Given the description of an element on the screen output the (x, y) to click on. 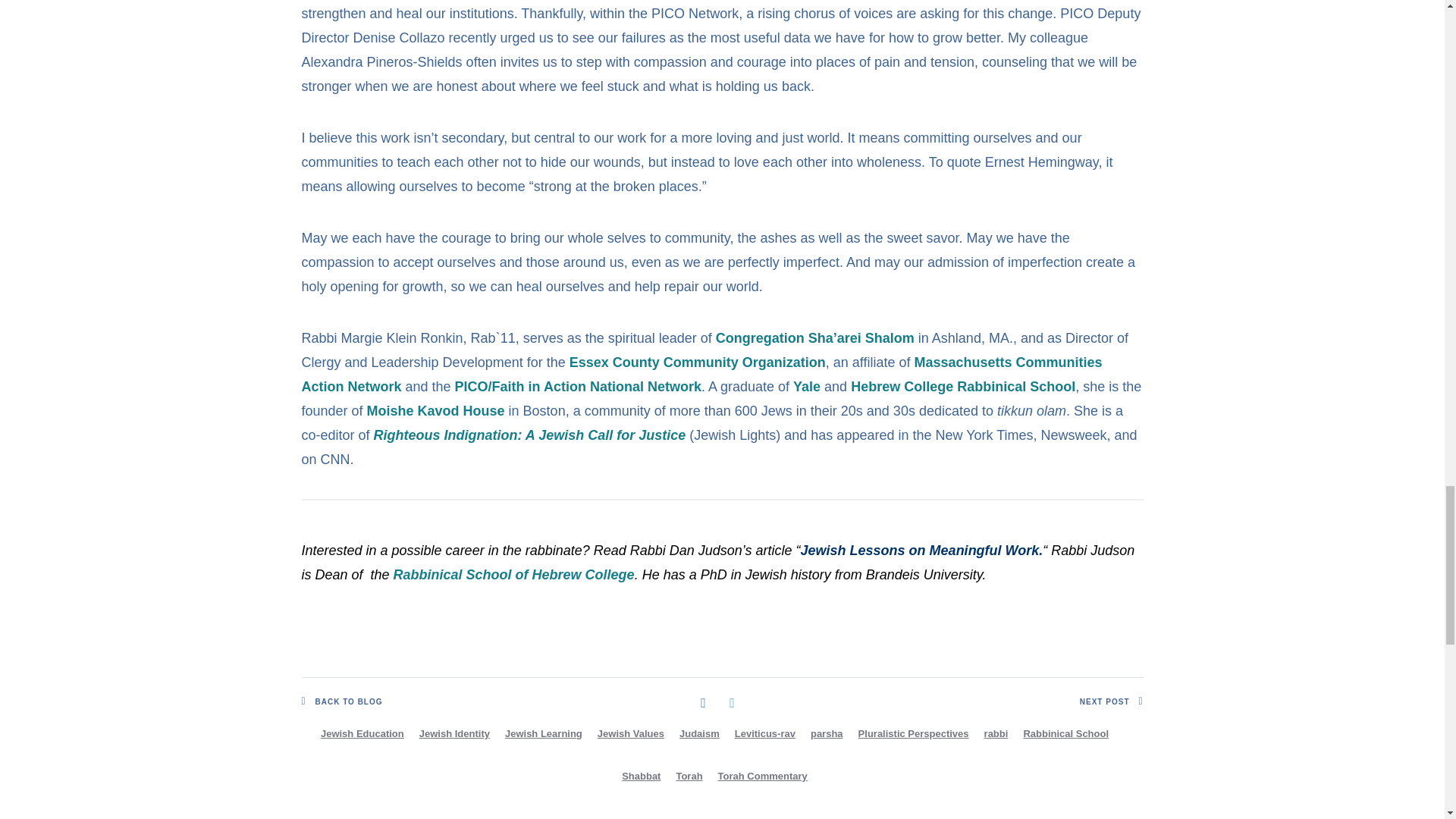
parsha (826, 733)
Shabbat (641, 776)
Leviticus-rav (764, 733)
Torah (689, 776)
Pluralistic Perspectives (913, 733)
Jewish Identity (454, 733)
Judaism (698, 733)
Jewish Learning (543, 733)
Jewish Education (362, 733)
Linked In (731, 702)
